Given the description of an element on the screen output the (x, y) to click on. 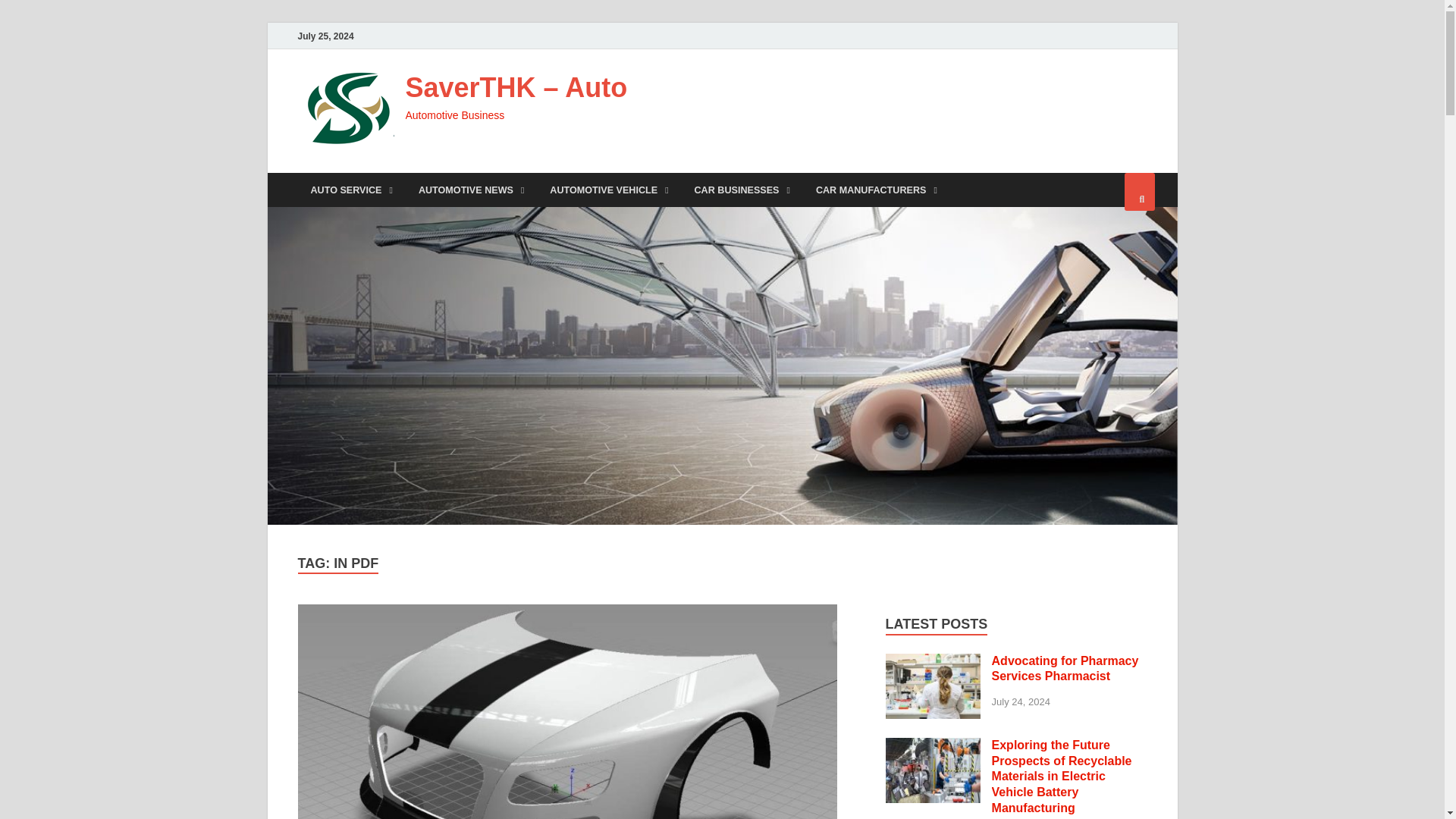
CAR BUSINESSES (742, 189)
Advocating for Pharmacy Services Pharmacist (932, 662)
AUTO SERVICE (350, 189)
AUTOMOTIVE NEWS (471, 189)
AUTOMOTIVE VEHICLE (609, 189)
Advocating for Pharmacy Services Pharmacist (1064, 668)
CAR MANUFACTURERS (876, 189)
